Given the description of an element on the screen output the (x, y) to click on. 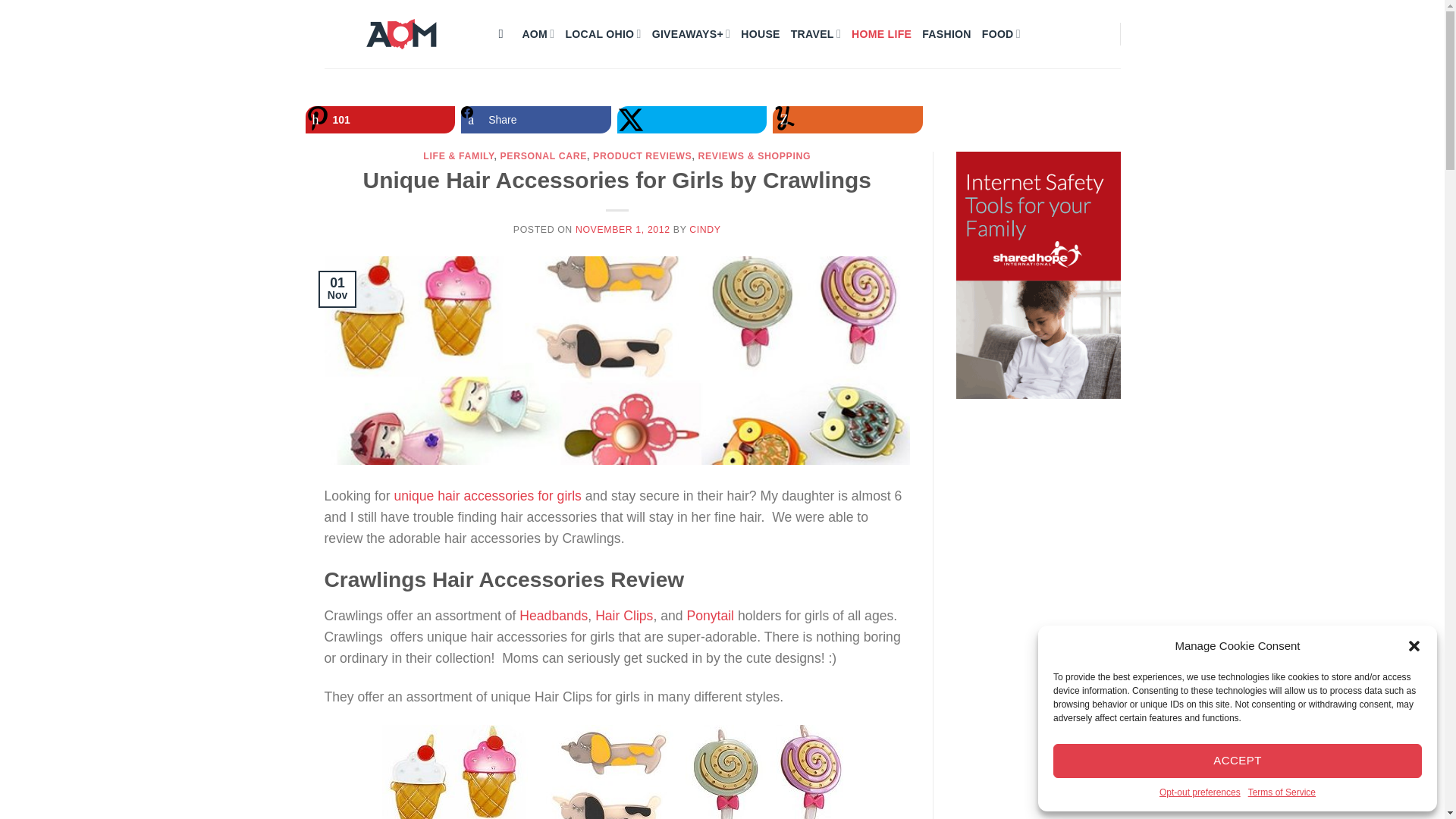
Share on - (692, 119)
Unique Hair Clips for Girls by Crawlings (616, 771)
Share on Share (536, 119)
LOCAL OHIO (602, 34)
Share on - (379, 119)
ACCEPT (1237, 760)
Opt-out preferences (1199, 792)
AOM (537, 34)
Terms of Service (1281, 792)
Share on - (848, 119)
TRAVEL (815, 34)
HOUSE (759, 34)
Akron Ohio Moms - Influential Moms in Ohio (400, 33)
